Given the description of an element on the screen output the (x, y) to click on. 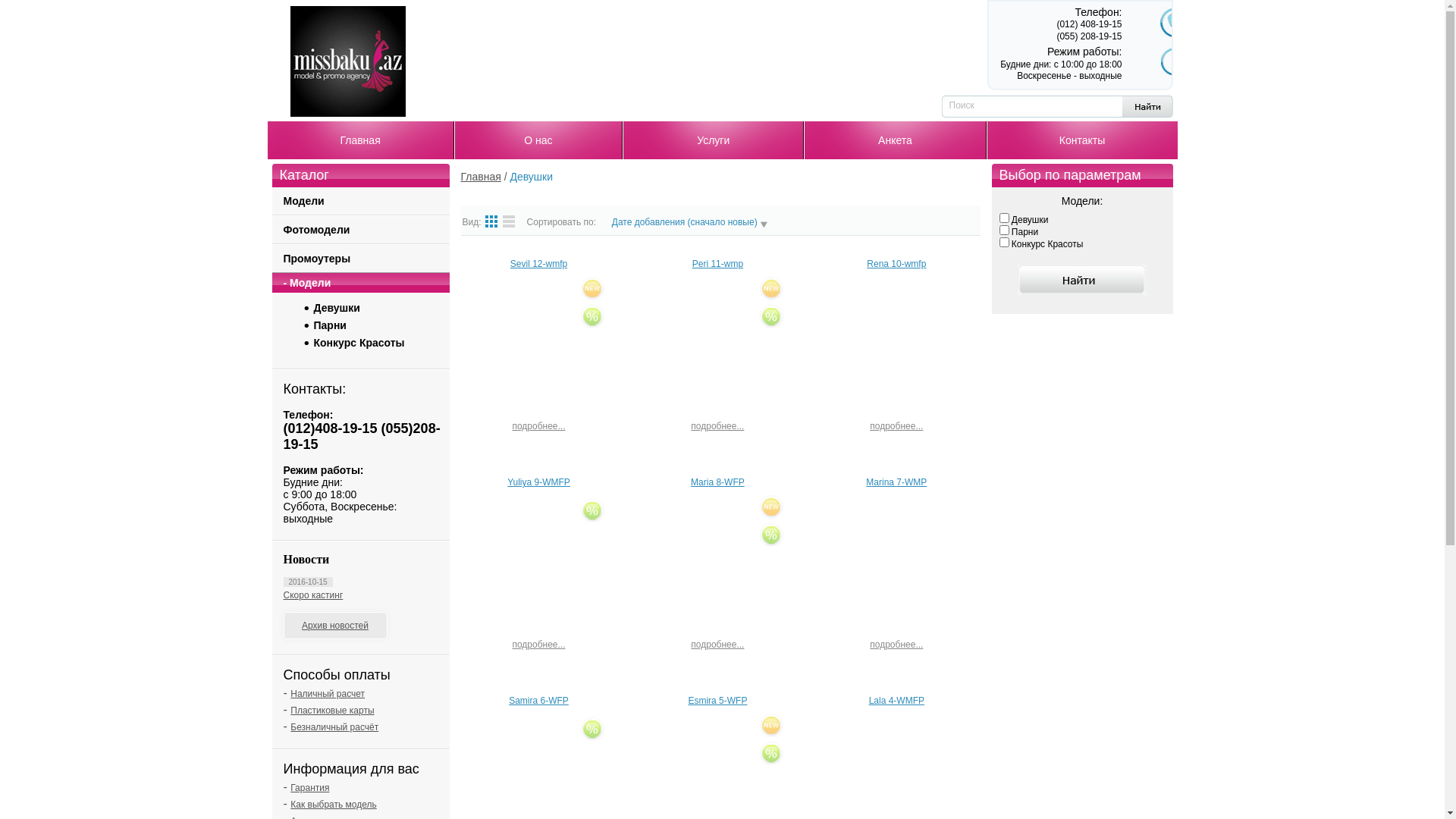
Yuliya 9-WMFP Element type: text (538, 481)
Marina 7-WMP Element type: text (896, 481)
Sevil 12-wmfp Element type: text (538, 263)
Rena 10-wmfp Element type: text (895, 263)
Esmira 5-WFP Element type: text (716, 700)
Peri 11-wmp Element type: text (717, 263)
Maria 8-WFP Element type: text (717, 481)
Samira 6-WFP Element type: text (538, 700)
Lala 4-WMFP Element type: text (896, 700)
